Given the description of an element on the screen output the (x, y) to click on. 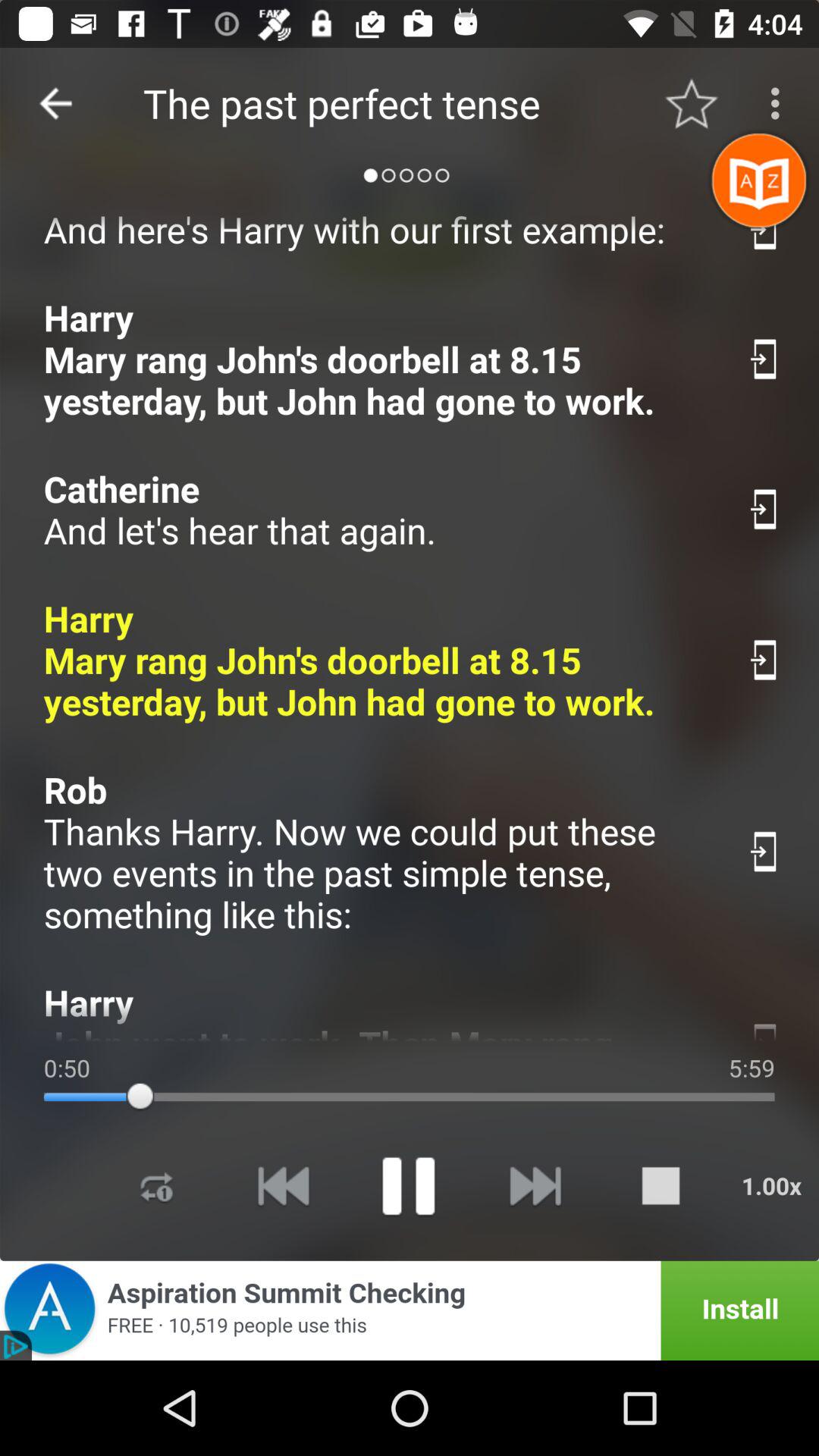
swith auto play option (765, 509)
